Given the description of an element on the screen output the (x, y) to click on. 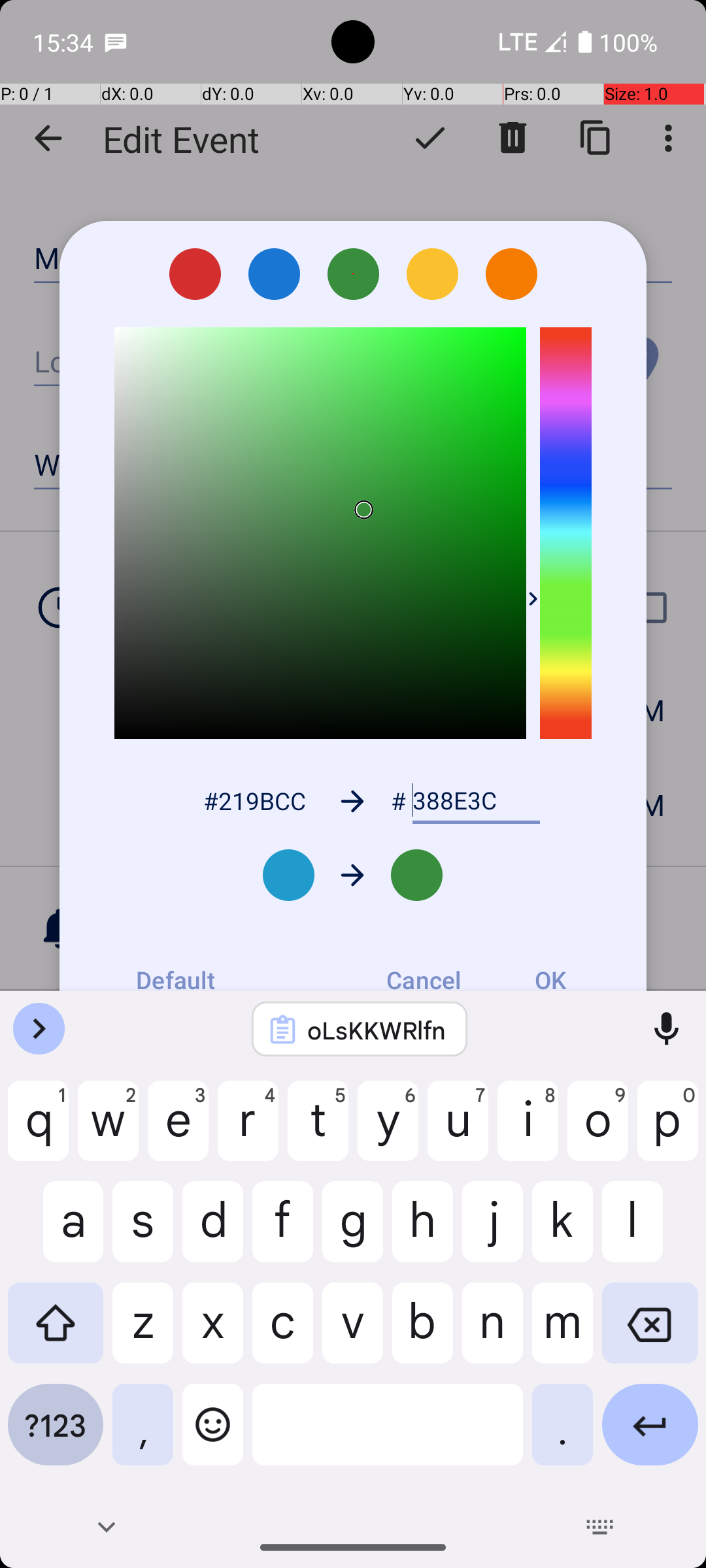
388E3C Element type: android.widget.EditText (475, 800)
oLsKKWRlfn Element type: android.widget.TextView (376, 1029)
